Given the description of an element on the screen output the (x, y) to click on. 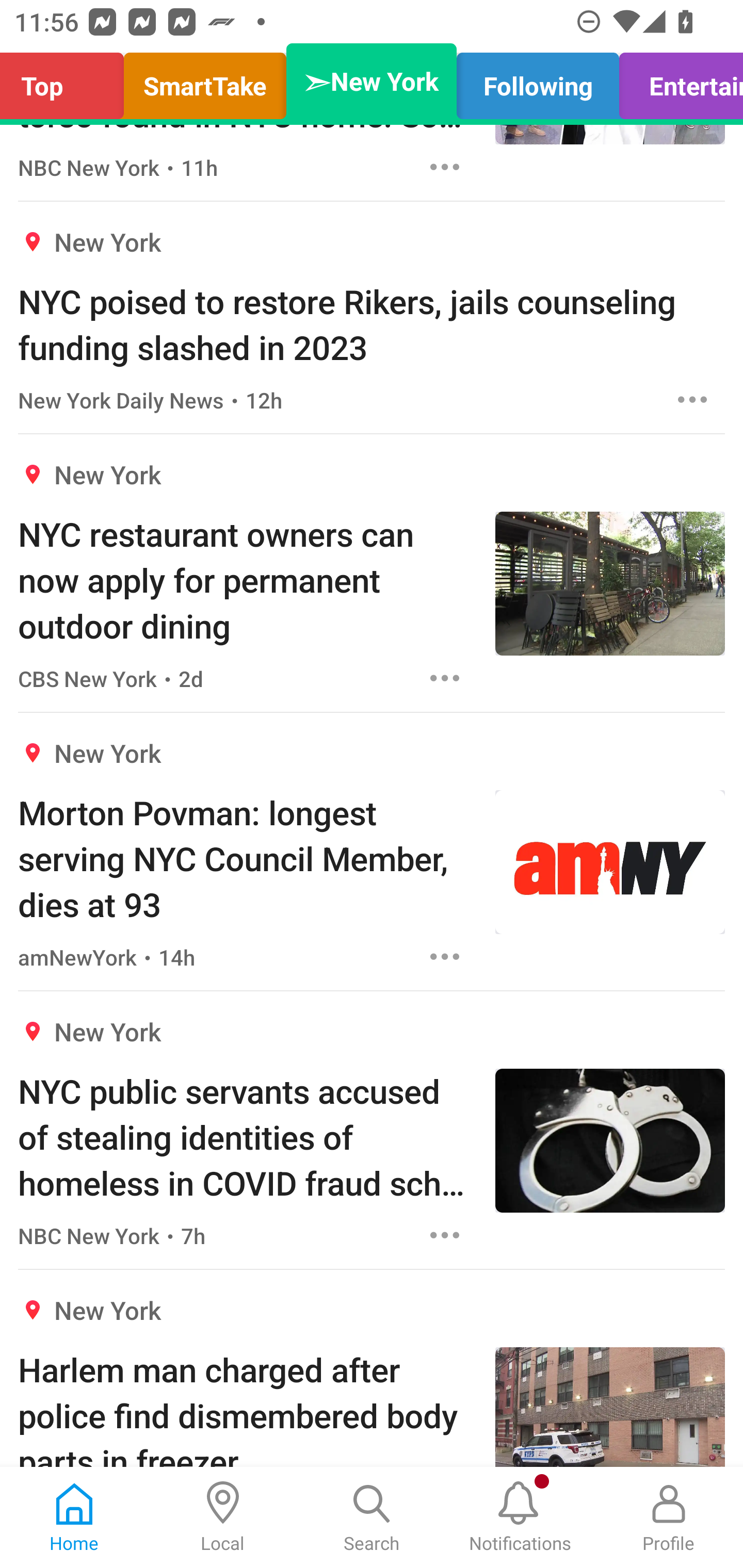
Top (67, 81)
SmartTake (204, 81)
➣New York (371, 81)
Following (537, 81)
Options (444, 166)
Options (692, 399)
Options (444, 677)
Options (444, 956)
Options (444, 1235)
Local (222, 1517)
Search (371, 1517)
Notifications, New notification Notifications (519, 1517)
Profile (668, 1517)
